Given the description of an element on the screen output the (x, y) to click on. 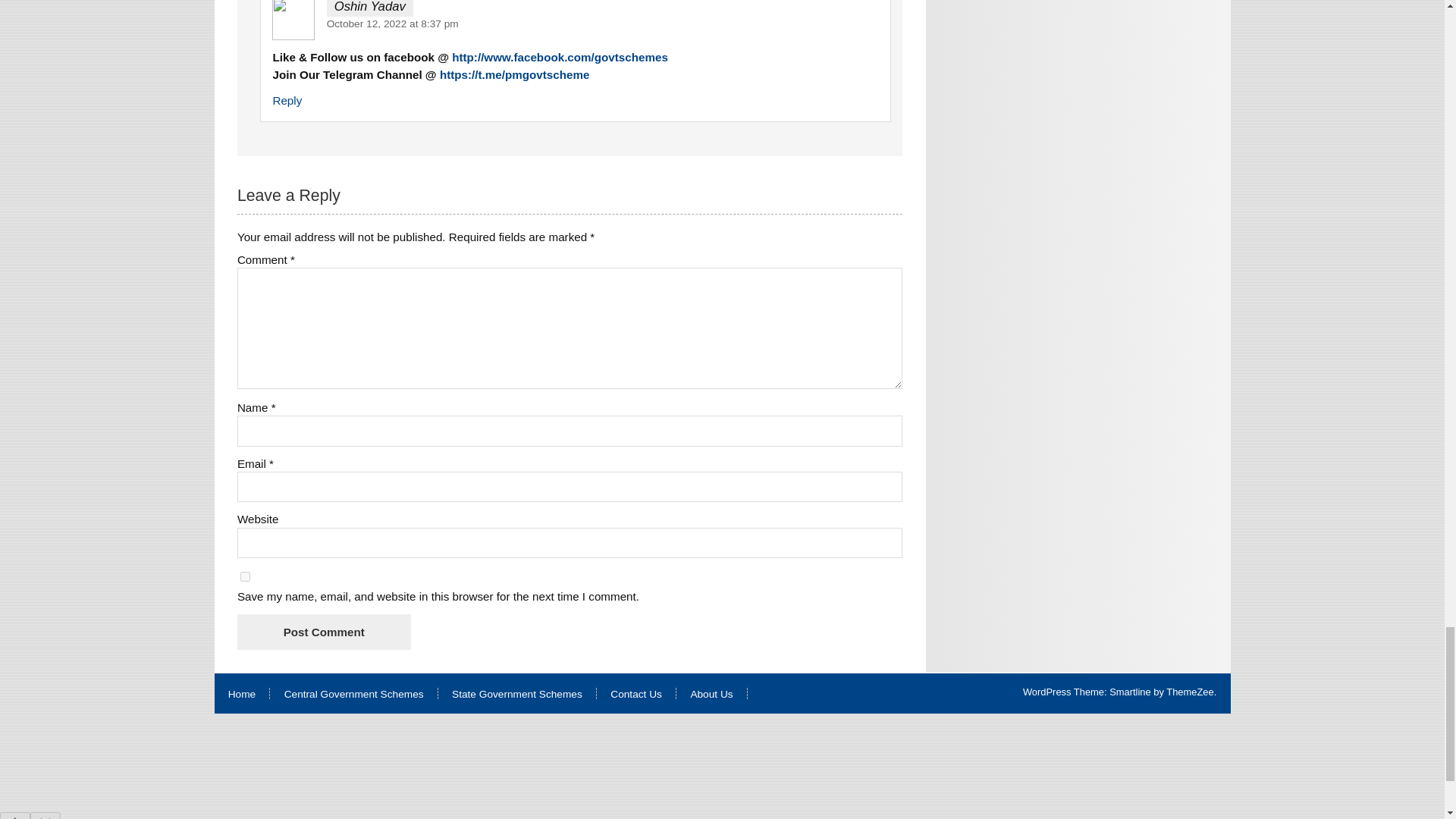
yes (245, 576)
Post Comment (323, 632)
